Given the description of an element on the screen output the (x, y) to click on. 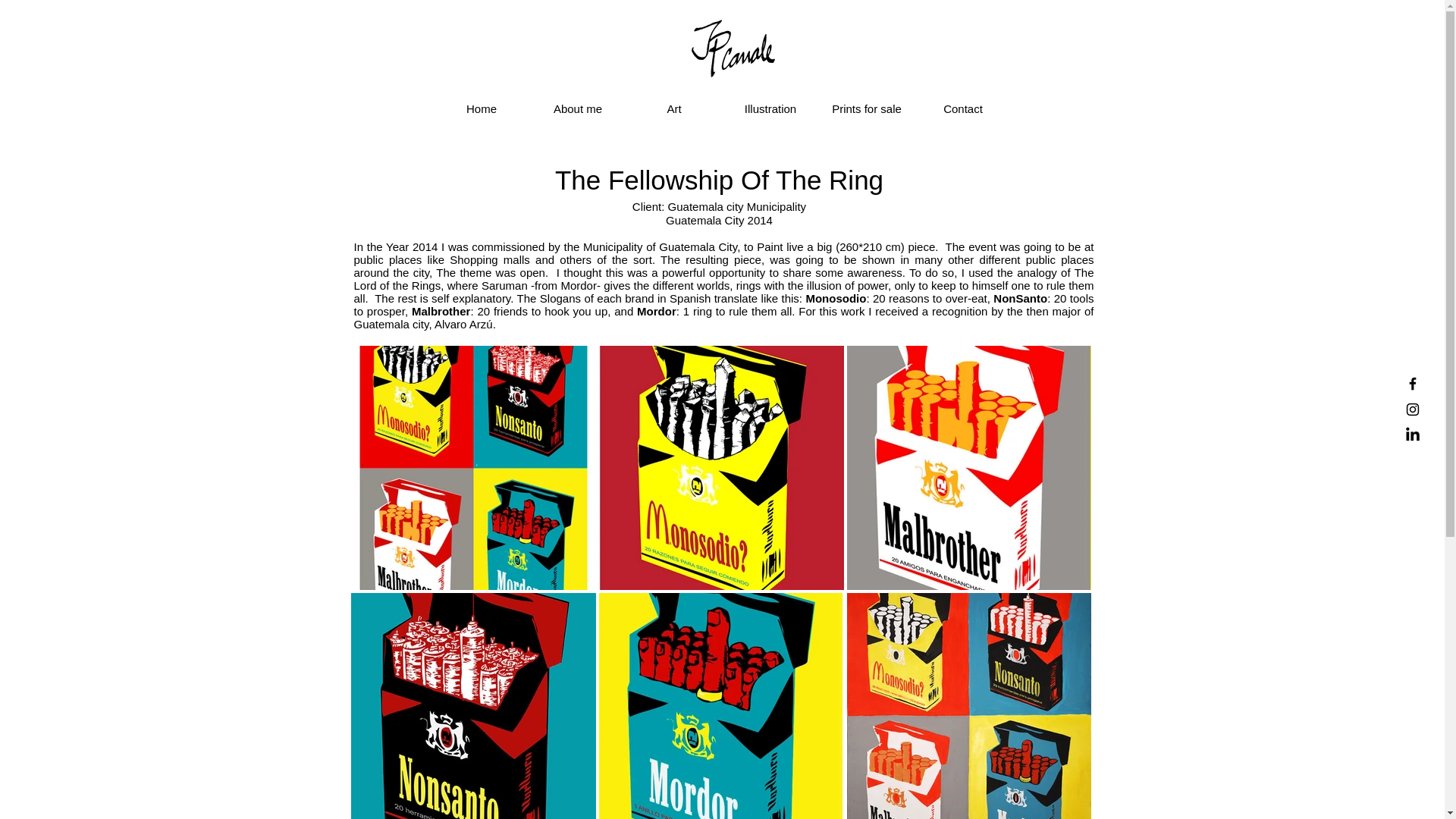
Home (481, 108)
Contact (962, 108)
Art (674, 108)
About me (577, 108)
Prints for sale (866, 108)
Illustration (770, 108)
